Given the description of an element on the screen output the (x, y) to click on. 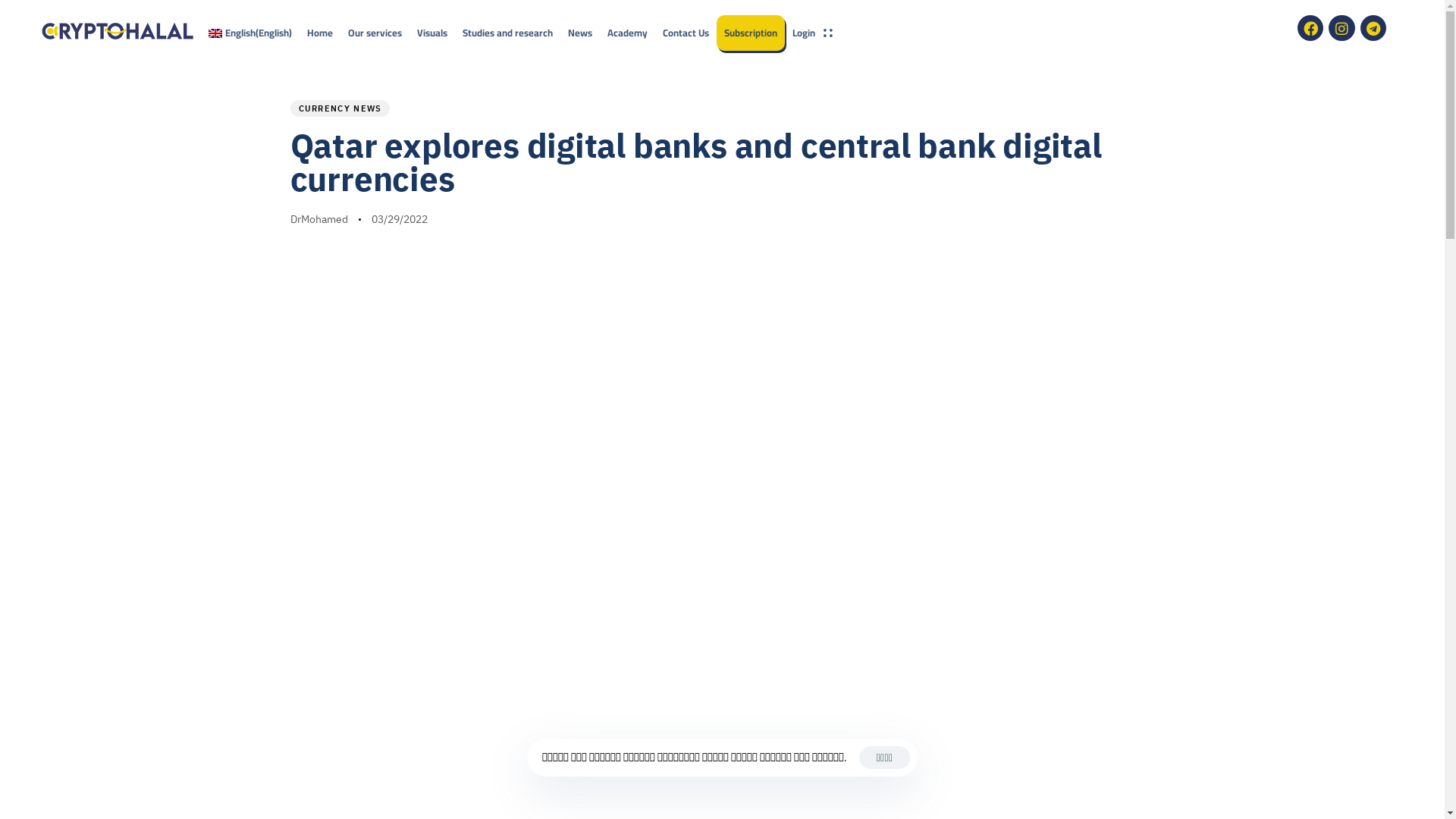
Home Element type: text (319, 32)
03/29/2022 Element type: text (399, 219)
Visuals Element type: text (432, 32)
Academy Element type: text (627, 32)
Contact Us Element type: text (685, 32)
Subscription Element type: text (750, 32)
Our services Element type: text (374, 32)
News Element type: text (579, 32)
DrMohamed Element type: text (318, 218)
CURRENCY NEWS Element type: text (339, 108)
Studies and research Element type: text (507, 32)
English
(English) Element type: text (249, 32)
Login Element type: text (812, 32)
